Given the description of an element on the screen output the (x, y) to click on. 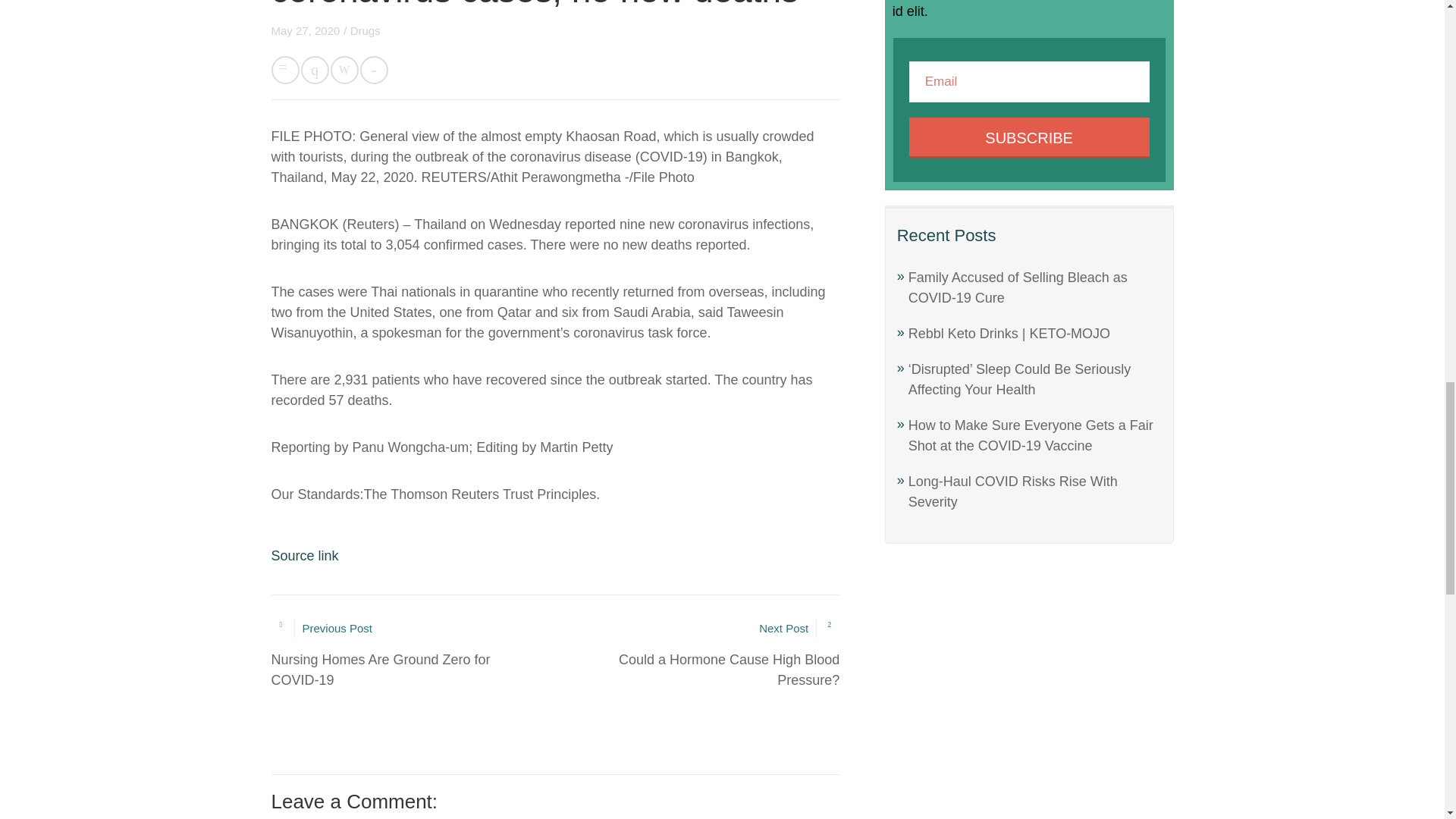
Long-Haul COVID Risks Rise With Severity (1013, 491)
Source link (413, 654)
Drugs (697, 654)
Family Accused of Selling Bleach as COVID-19 Cure (304, 555)
SUBSCRIBE (365, 30)
